Given the description of an element on the screen output the (x, y) to click on. 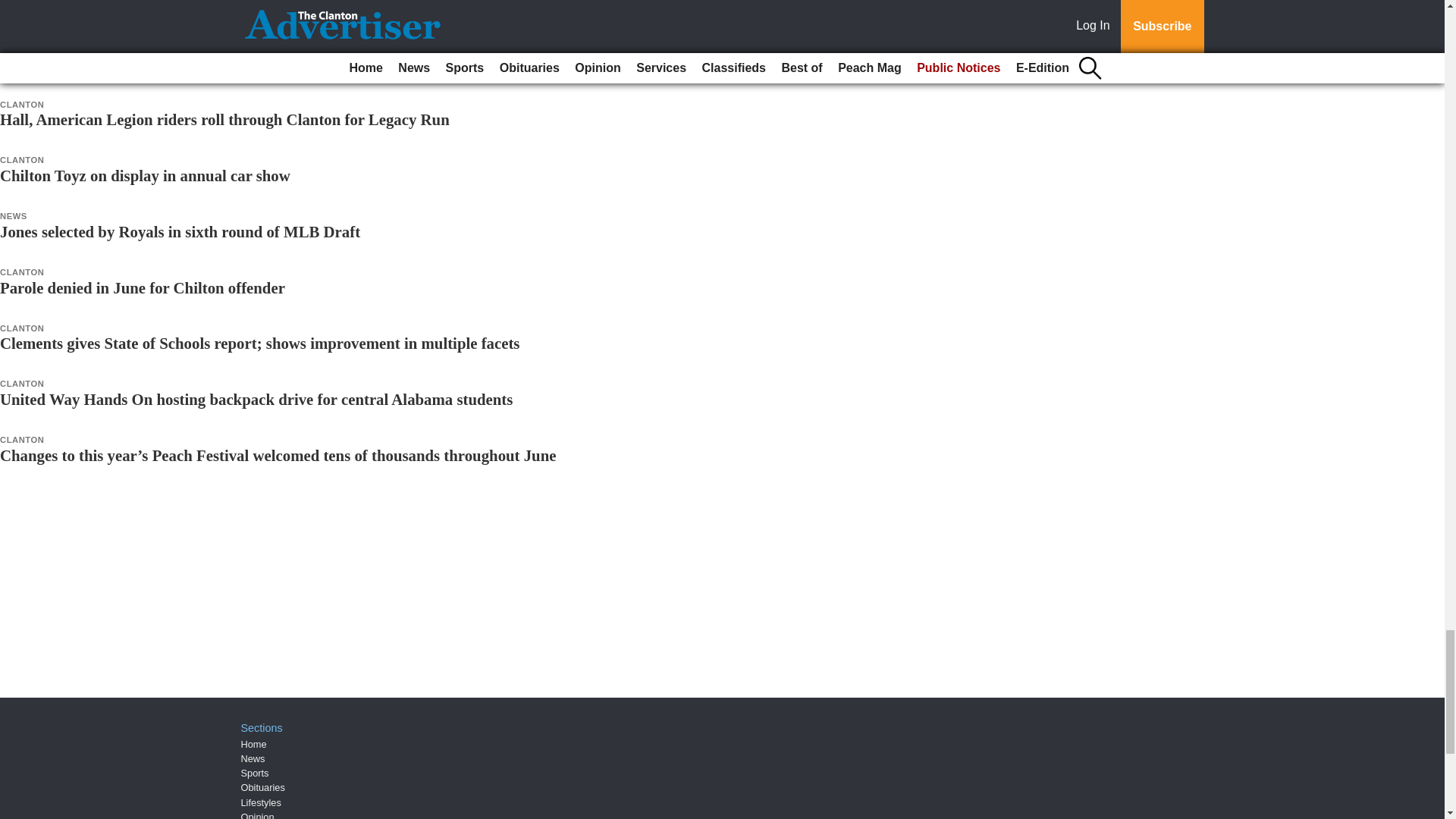
Unemployment rate spikes in Chilton from May to June (187, 63)
Primm collects three hits in AHSAA North-South All-Star Game (216, 8)
